Given the description of an element on the screen output the (x, y) to click on. 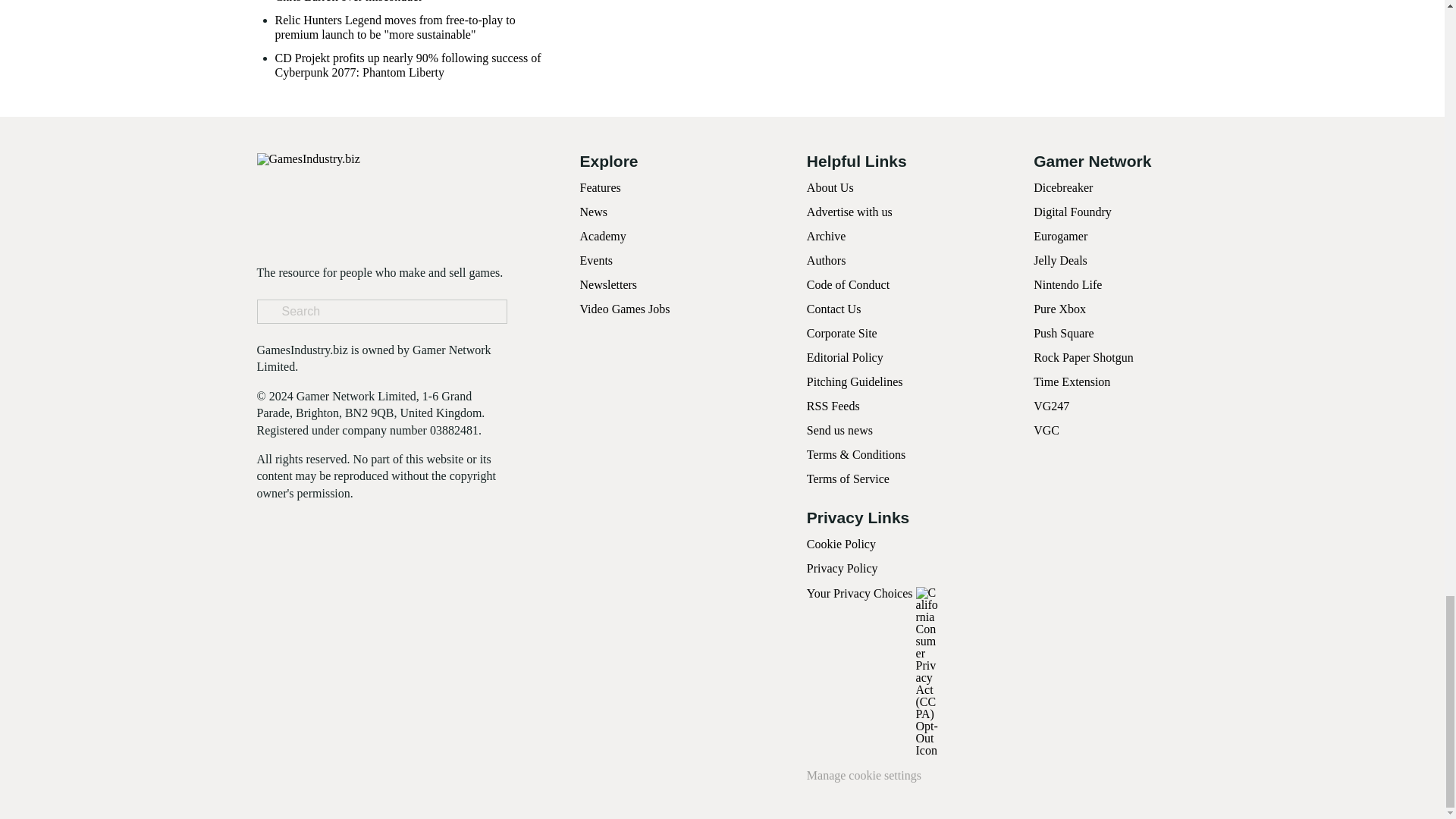
Academy (602, 236)
Video Games Jobs (624, 308)
Newsletters (608, 284)
News (593, 211)
About Us (829, 187)
Events (595, 259)
Features (599, 187)
